Given the description of an element on the screen output the (x, y) to click on. 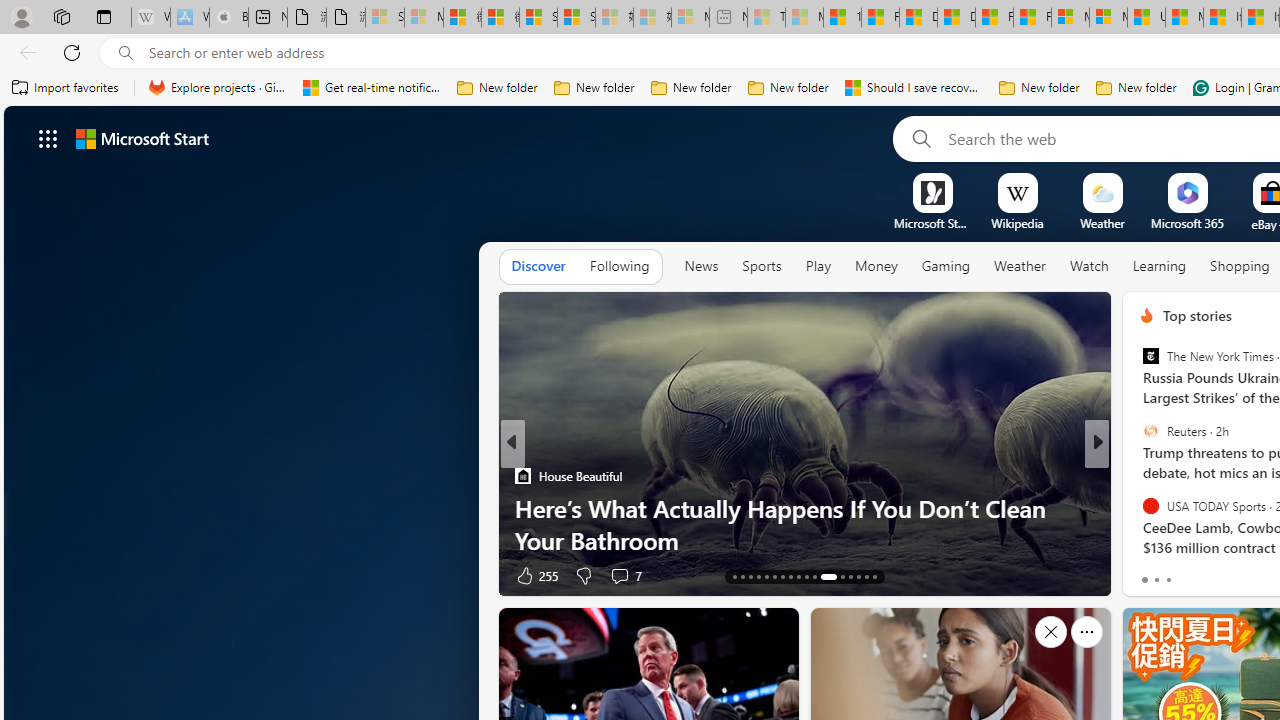
AutomationID: tab-32 (865, 576)
Should I save recovered Word documents? - Microsoft Support (913, 88)
USA TODAY Sports (1149, 505)
421 Like (1151, 574)
Hide this story (1050, 632)
Hey She Thrives (1138, 507)
